Given the description of an element on the screen output the (x, y) to click on. 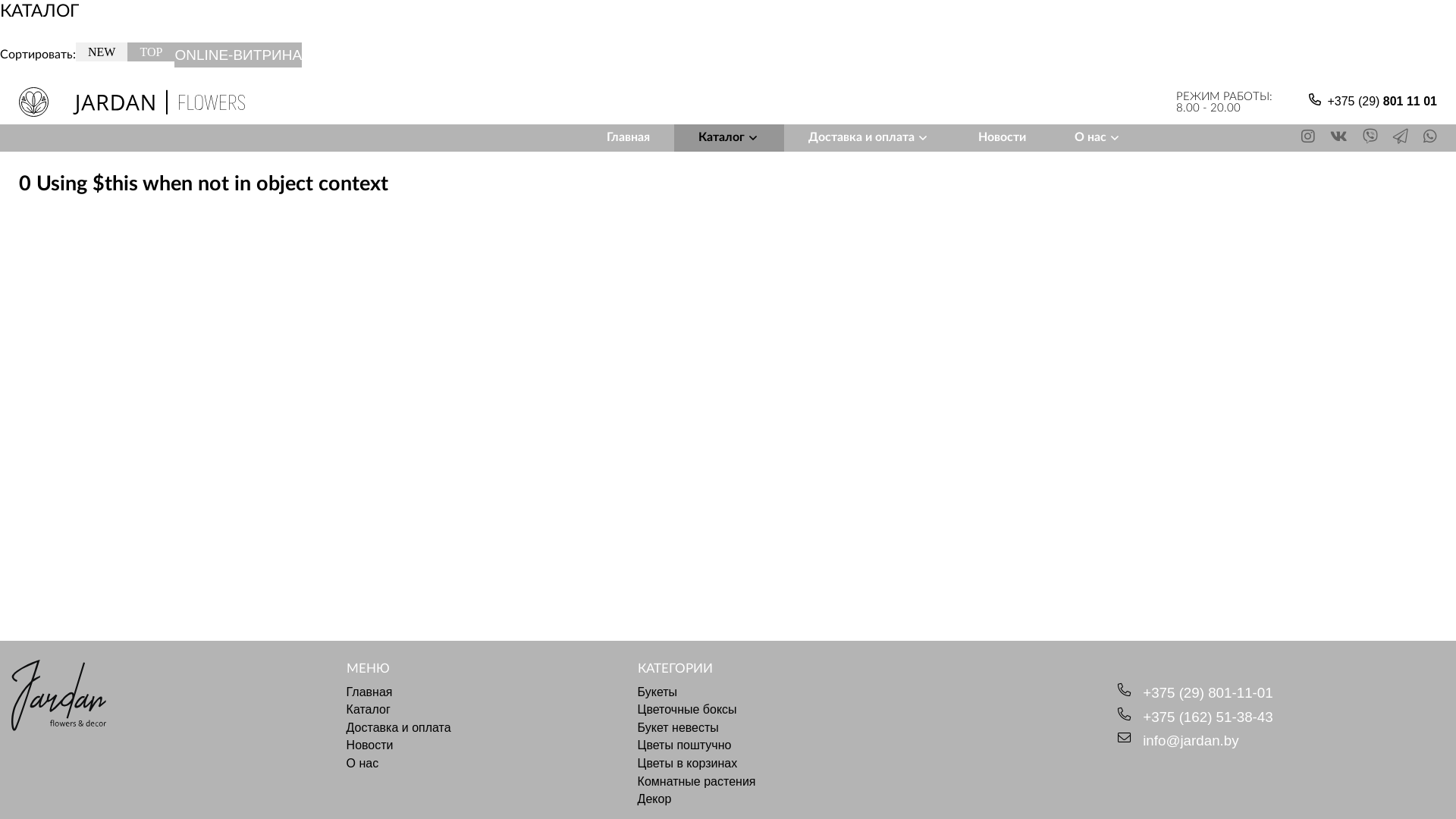
+375 (162) 51-38-43 Element type: text (1207, 717)
NEW Element type: text (101, 52)
whatsapp Element type: hover (1430, 137)
TOP Element type: text (150, 52)
info@jardan.by Element type: text (1190, 741)
+375 (29) 801 11 01 Element type: text (1382, 102)
telegram Element type: hover (1402, 137)
vk Element type: hover (1340, 137)
viber Element type: hover (1371, 137)
+375 (29) 801-11-01 Element type: text (1207, 693)
instagram Element type: hover (1309, 137)
